Given the description of an element on the screen output the (x, y) to click on. 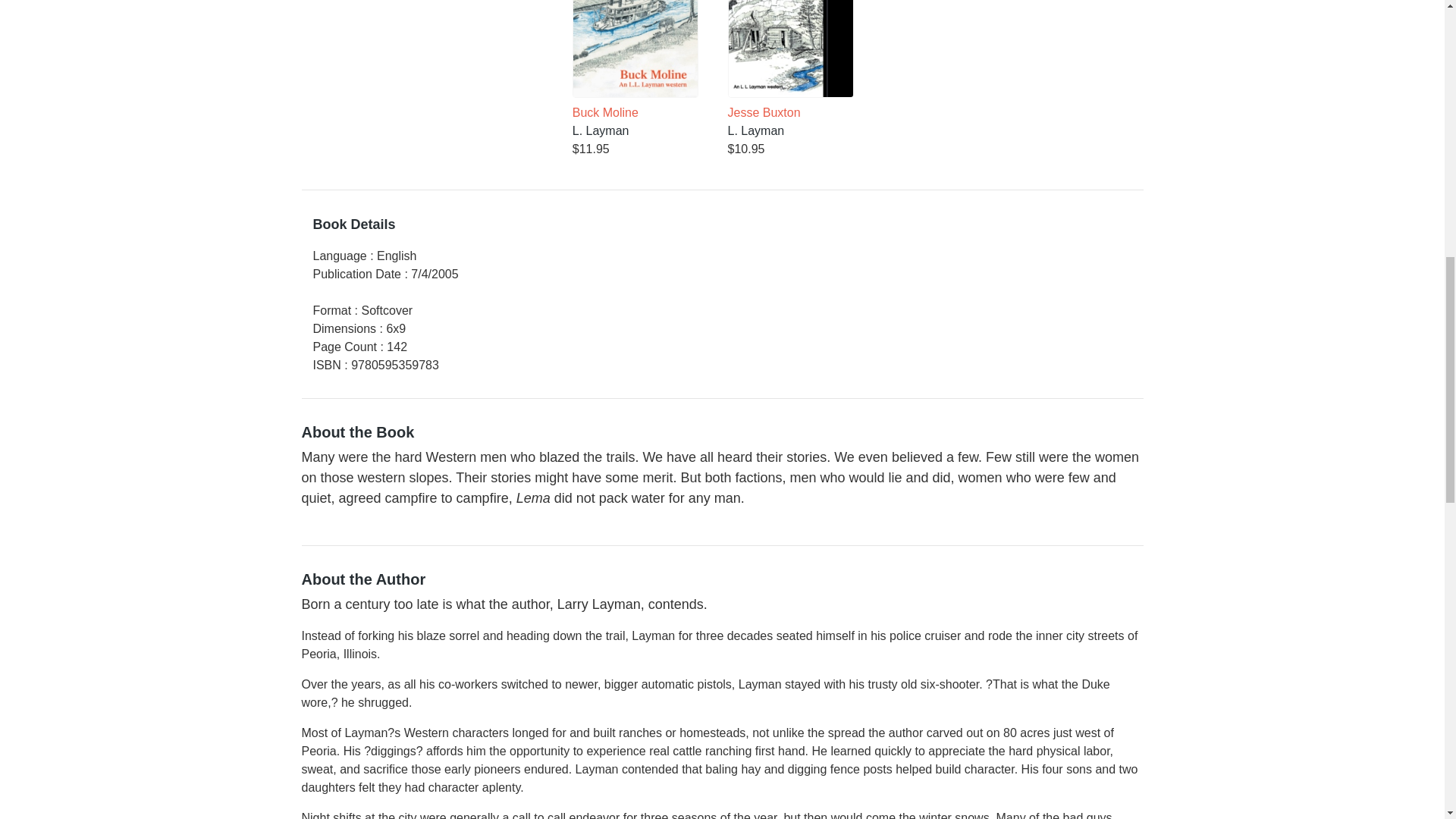
Buck Moline (635, 61)
Jesse Buxton (790, 61)
